Given the description of an element on the screen output the (x, y) to click on. 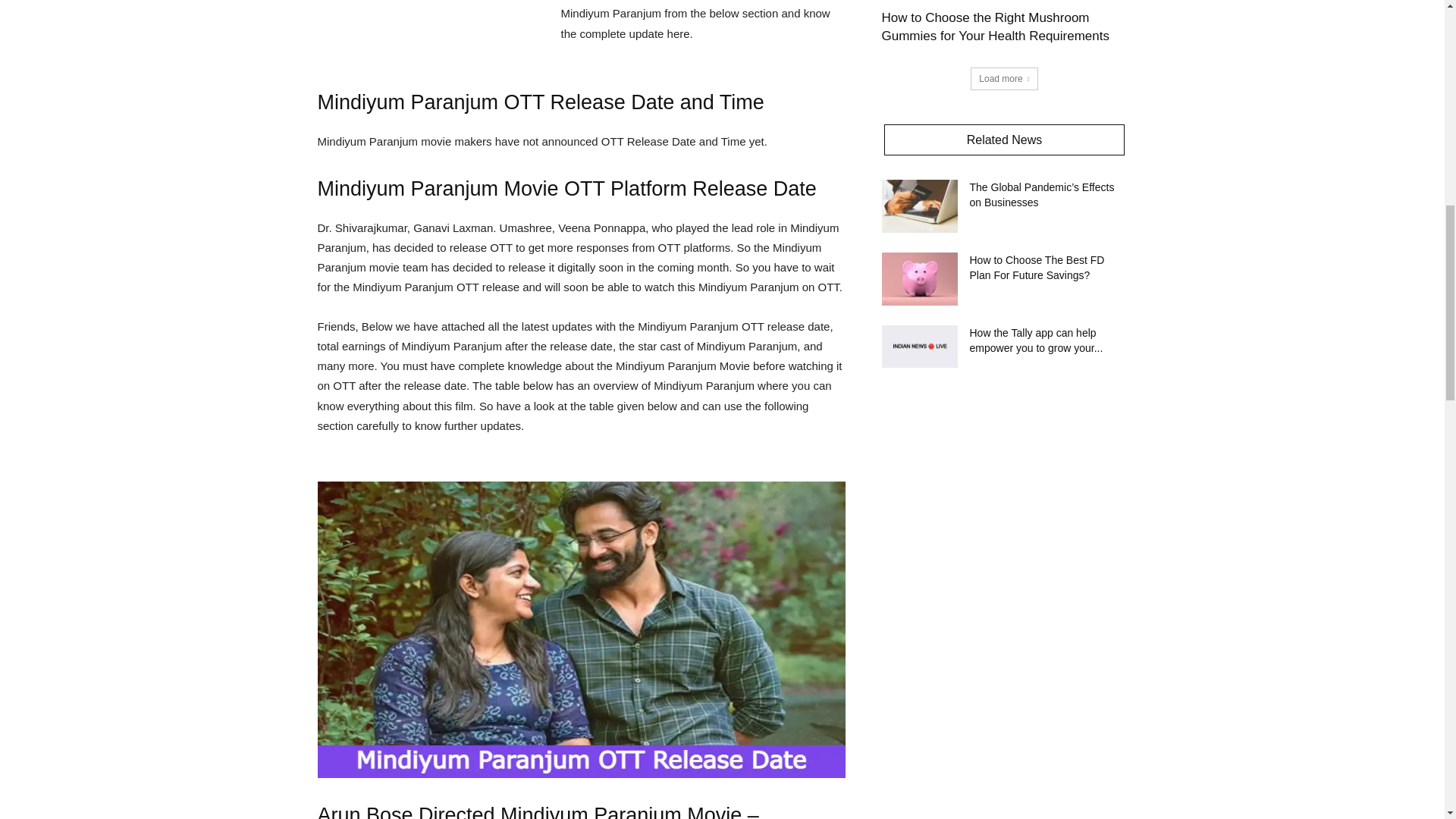
Advertisement (430, 27)
